Given the description of an element on the screen output the (x, y) to click on. 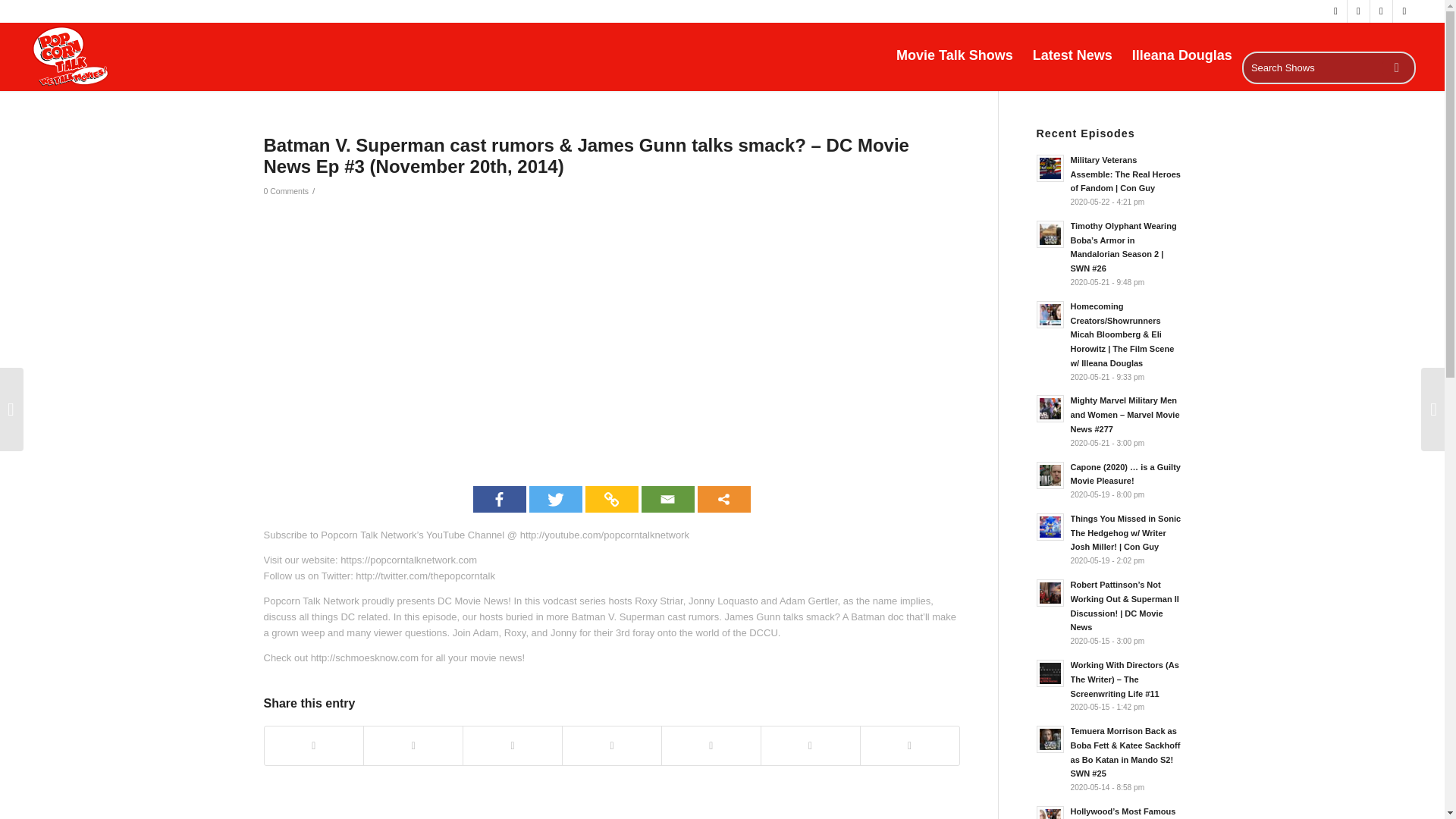
Instagram (1359, 11)
Twitter (555, 499)
Facebook (1380, 11)
Copy Link (612, 499)
Movie Talk Shows (954, 56)
Illeana Douglas (1181, 56)
Youtube (1404, 11)
More (724, 499)
Facebook (499, 499)
Latest News (1072, 56)
Email (668, 499)
0 Comments (285, 190)
Twitter (1335, 11)
